Given the description of an element on the screen output the (x, y) to click on. 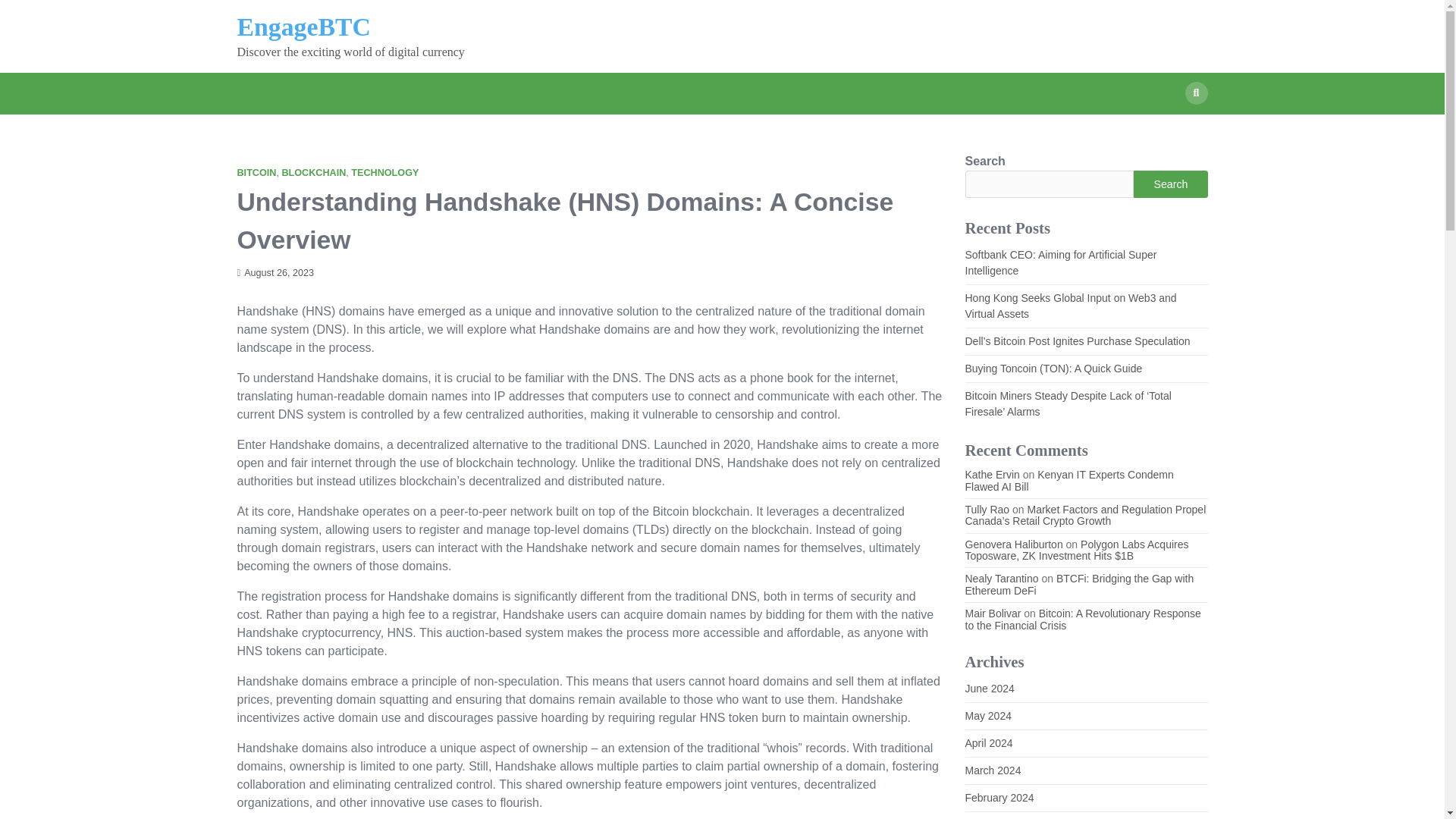
Bitcoin: A Revolutionary Response to the Financial Crisis (1081, 618)
Tully Rao (986, 509)
Search (1170, 184)
Search (1168, 128)
June 2024 (988, 688)
BITCOIN (255, 173)
August 26, 2023 (274, 272)
Nealy Tarantino (1000, 578)
Genovera Haliburton (1012, 544)
Hong Kong Seeks Global Input on Web3 and Virtual Assets (1069, 305)
Search (1196, 92)
BTCFi: Bridging the Gap with Ethereum DeFi (1078, 584)
Softbank CEO: Aiming for Artificial Super Intelligence (1059, 262)
Kenyan IT Experts Condemn Flawed AI Bill (1068, 480)
TECHNOLOGY (384, 173)
